Given the description of an element on the screen output the (x, y) to click on. 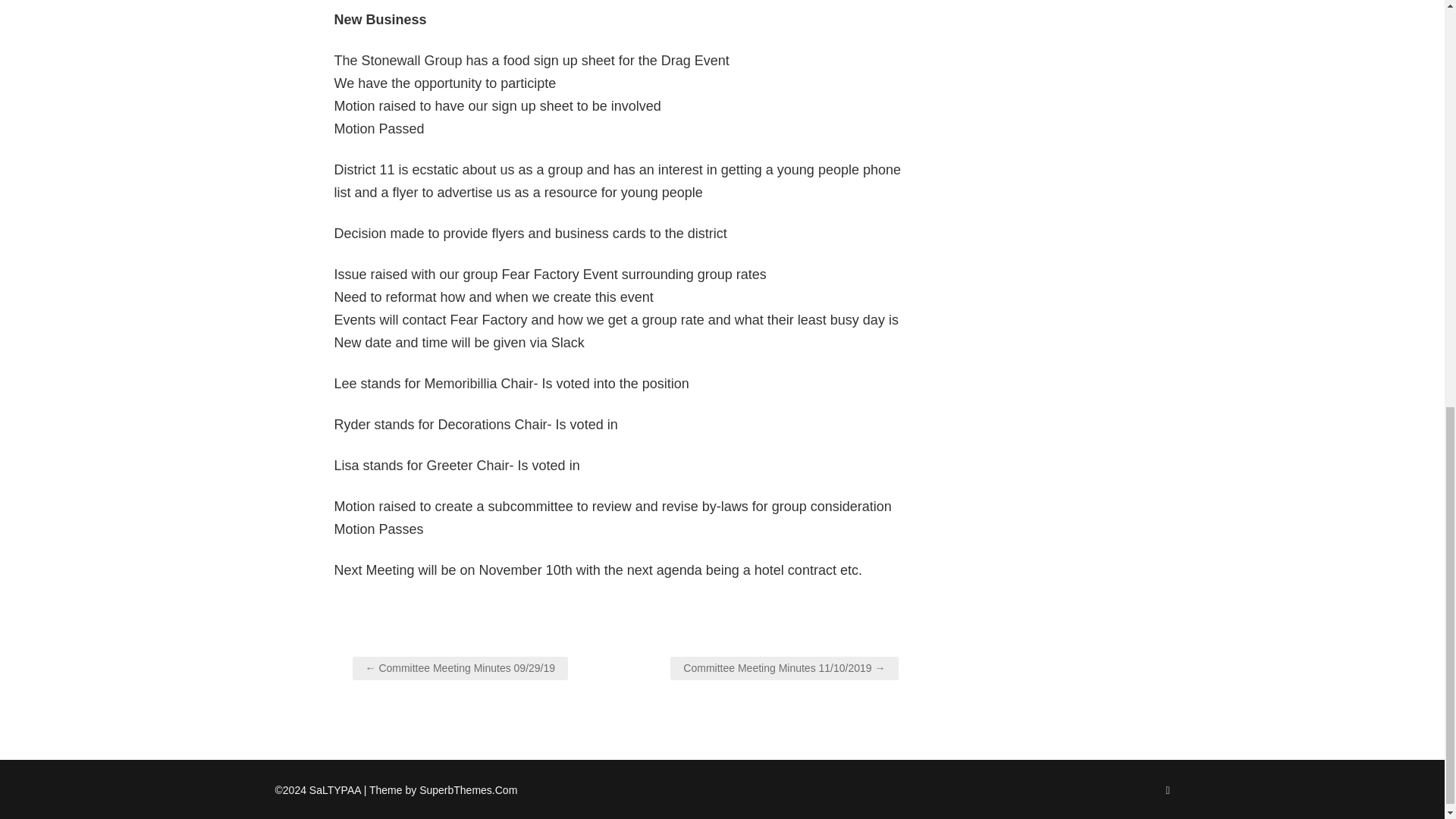
SuperbThemes.Com (467, 789)
